Given the description of an element on the screen output the (x, y) to click on. 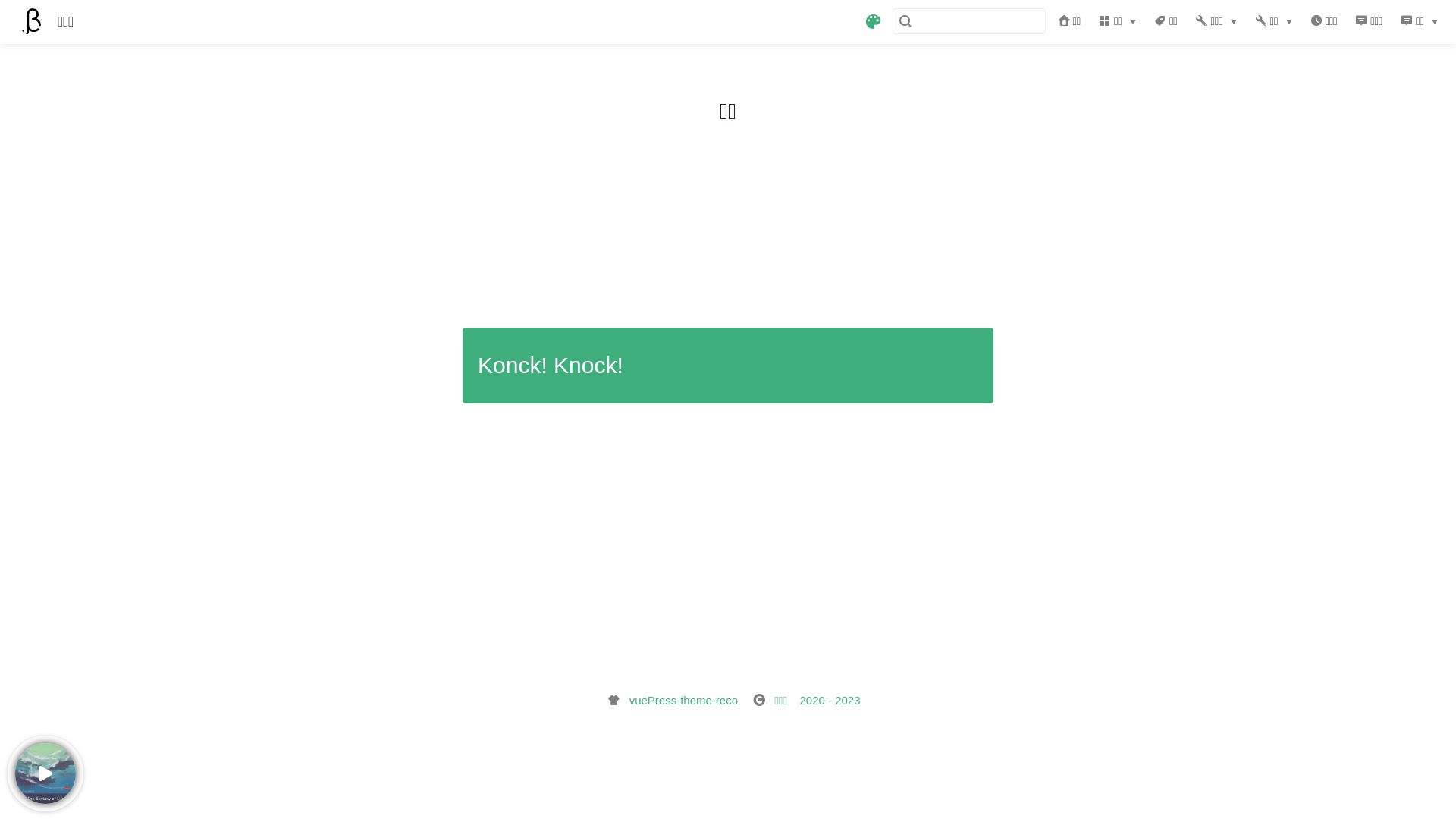
vuePress-theme-reco Element type: text (683, 699)
